Given the description of an element on the screen output the (x, y) to click on. 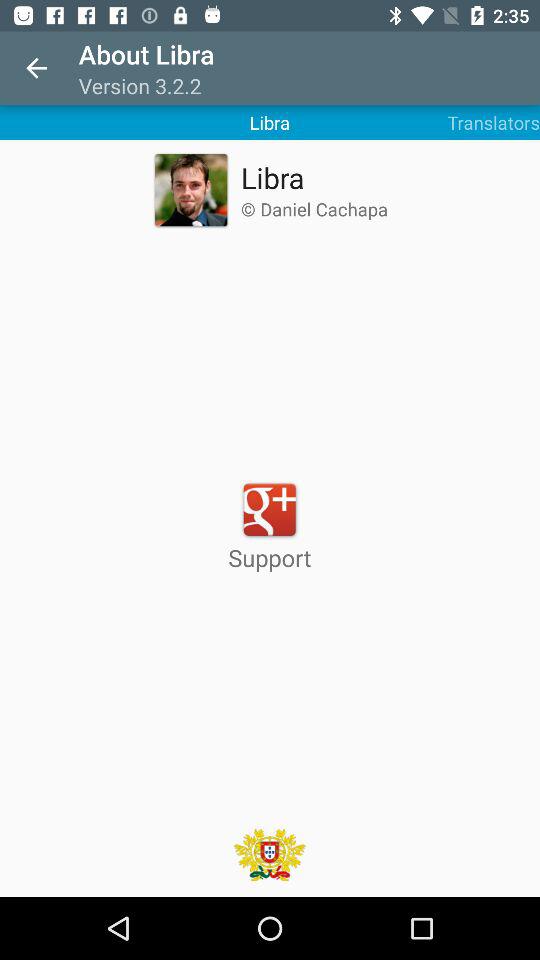
click support at the center (269, 525)
